Given the description of an element on the screen output the (x, y) to click on. 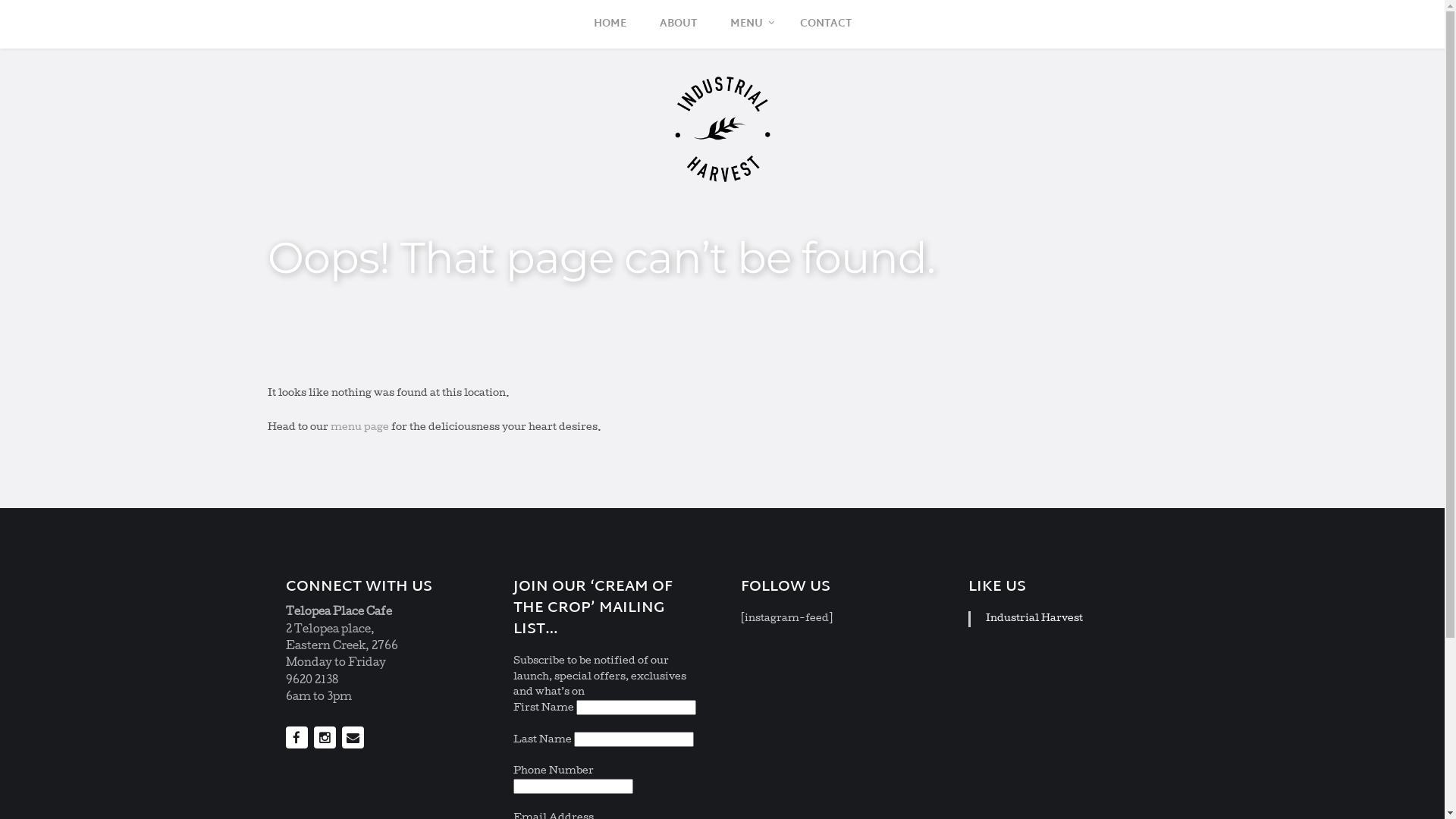
MENU Element type: text (747, 24)
HOME Element type: text (609, 24)
Industrial Harvest Element type: hover (721, 128)
ABOUT Element type: text (678, 24)
Industrial Harvest Element type: text (1033, 618)
CONTACT Element type: text (824, 24)
menu page Element type: text (359, 427)
